Given the description of an element on the screen output the (x, y) to click on. 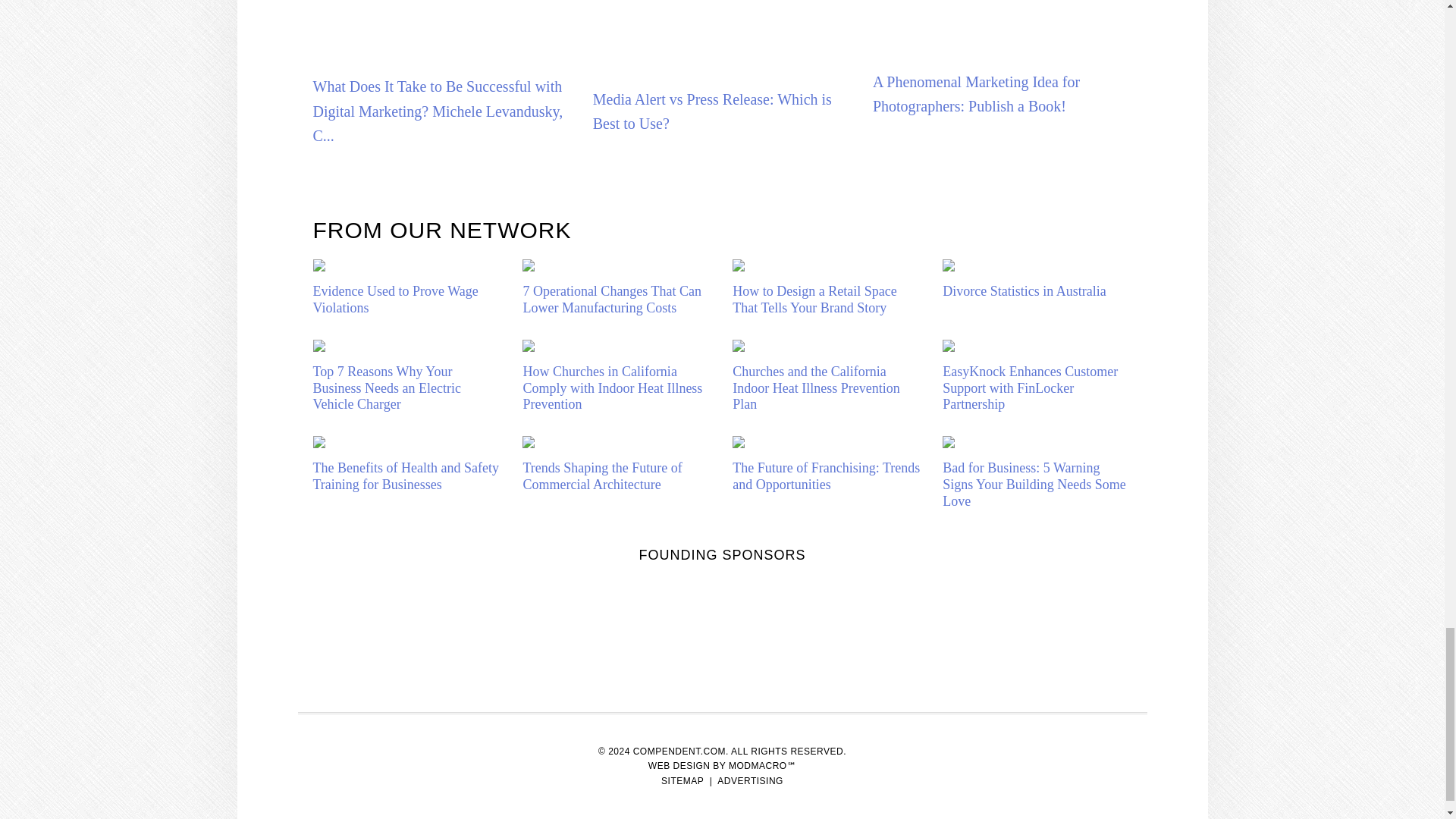
Media Alert vs Press Release: Which is Best to Use? (721, 31)
Web Design and SEO (721, 765)
